Given the description of an element on the screen output the (x, y) to click on. 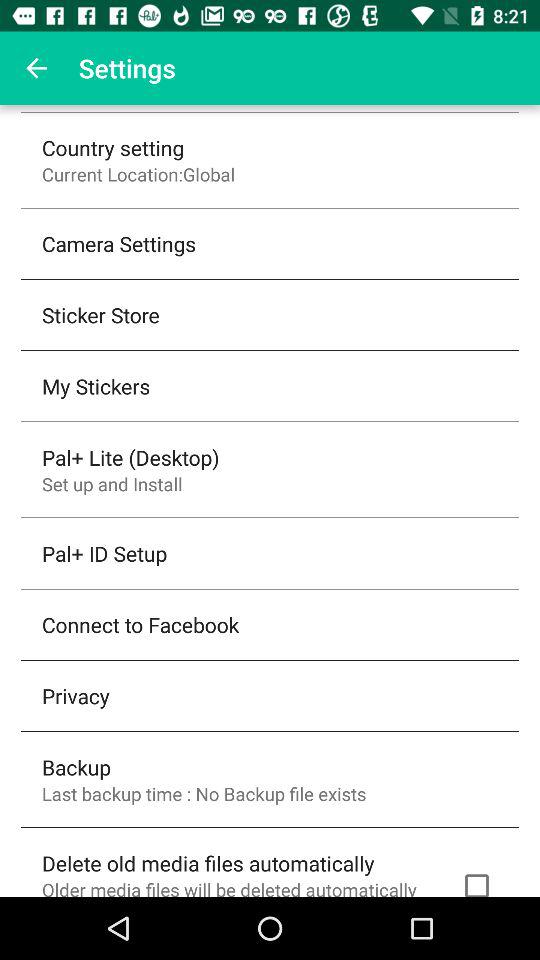
open icon above pal+ id setup (112, 483)
